Given the description of an element on the screen output the (x, y) to click on. 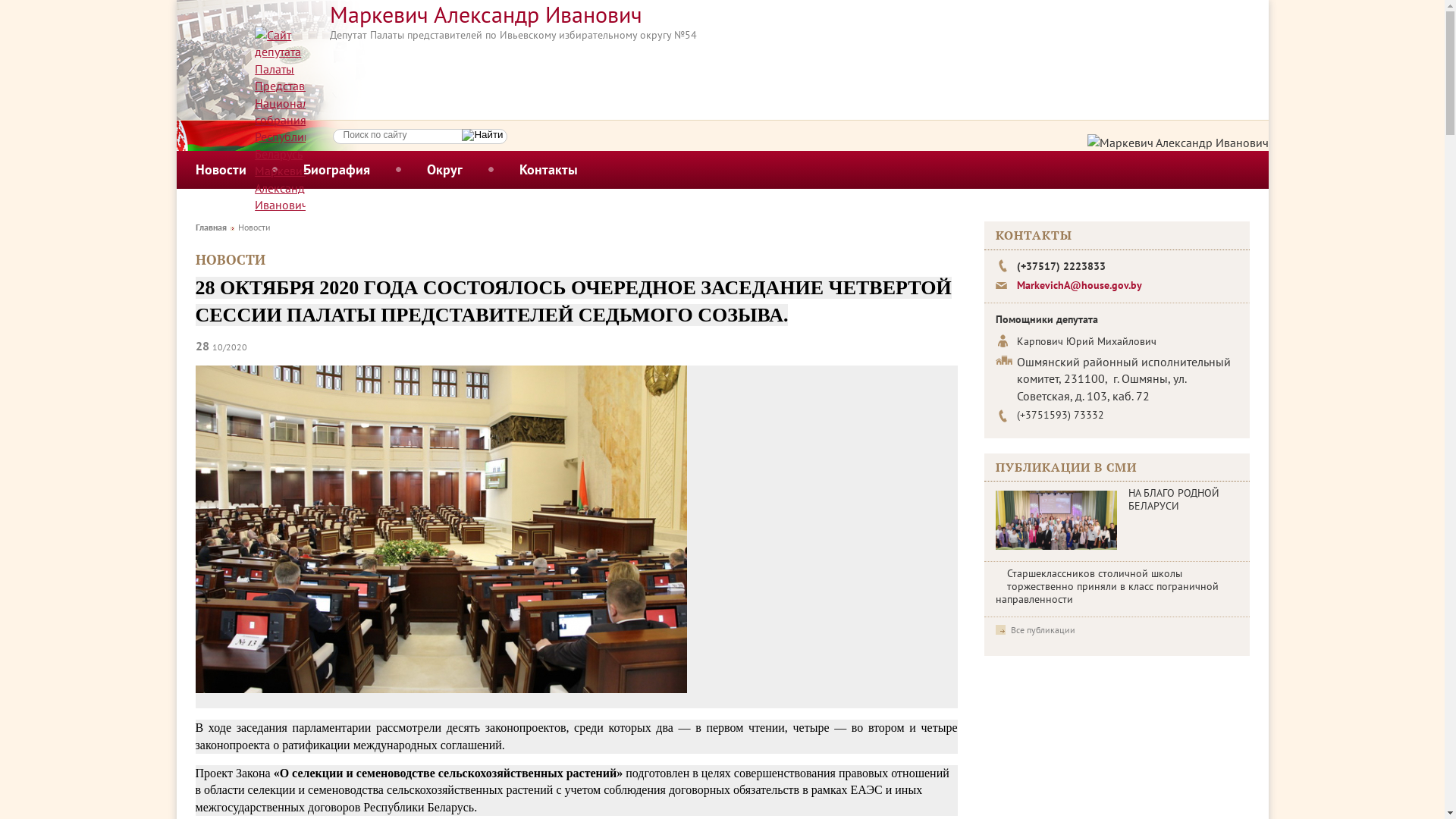
MarkevichA@house.gov.by Element type: text (1078, 284)
